Given the description of an element on the screen output the (x, y) to click on. 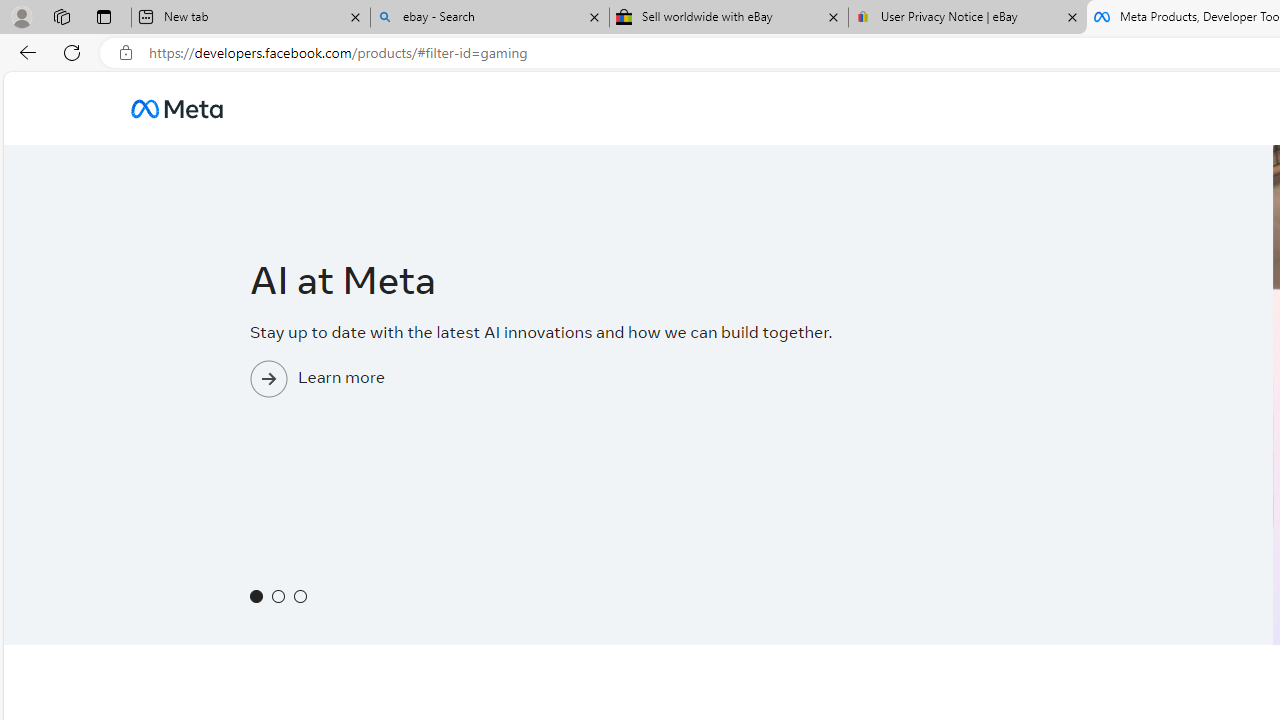
AutomationID: u_0_3h_wf (176, 107)
Show slide 3 (301, 596)
User Privacy Notice | eBay (967, 17)
Sell worldwide with eBay (729, 17)
Learn more (637, 416)
Show slide 2 (278, 596)
Show slide 1 (256, 596)
